Given the description of an element on the screen output the (x, y) to click on. 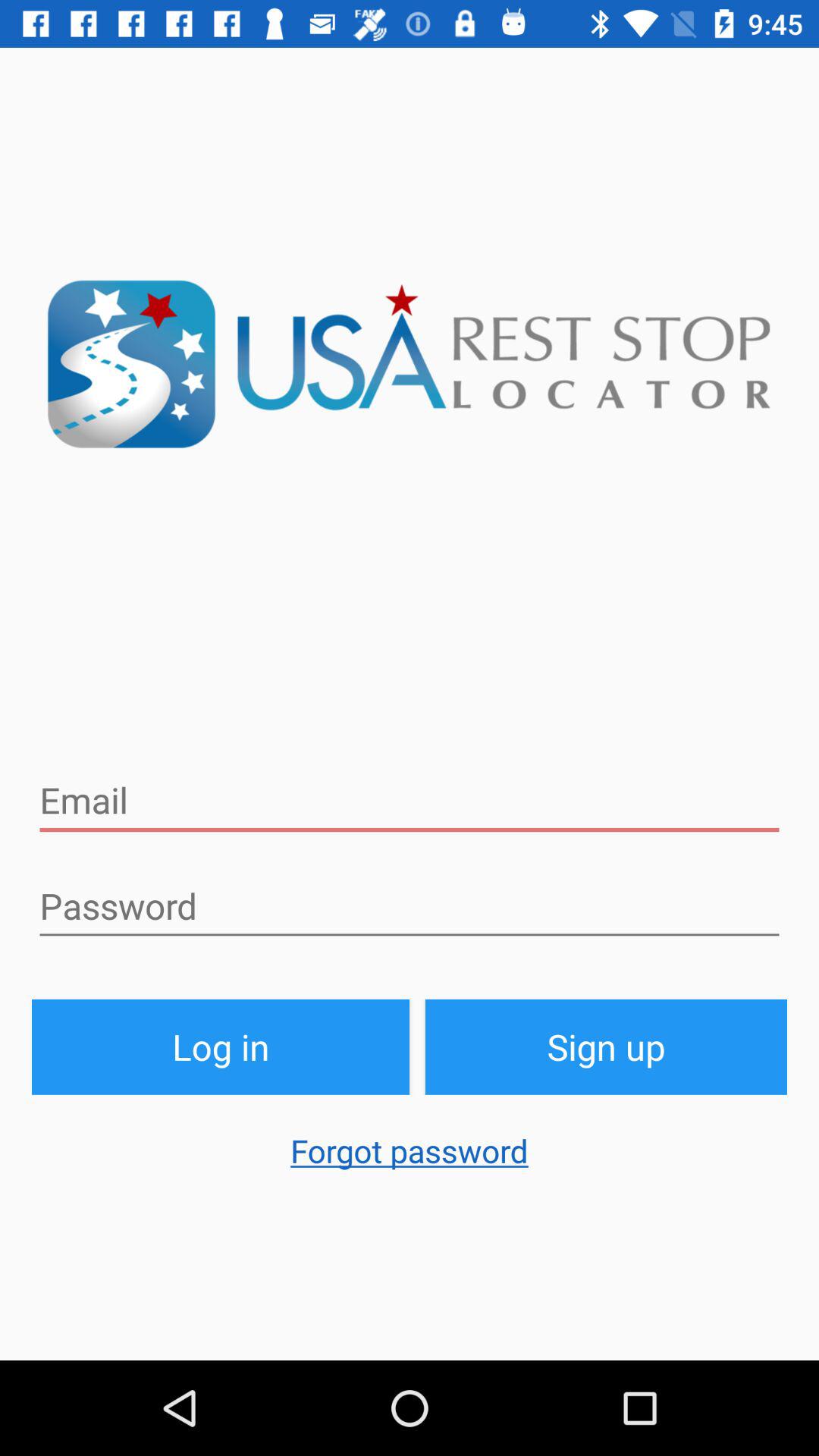
email (409, 800)
